Given the description of an element on the screen output the (x, y) to click on. 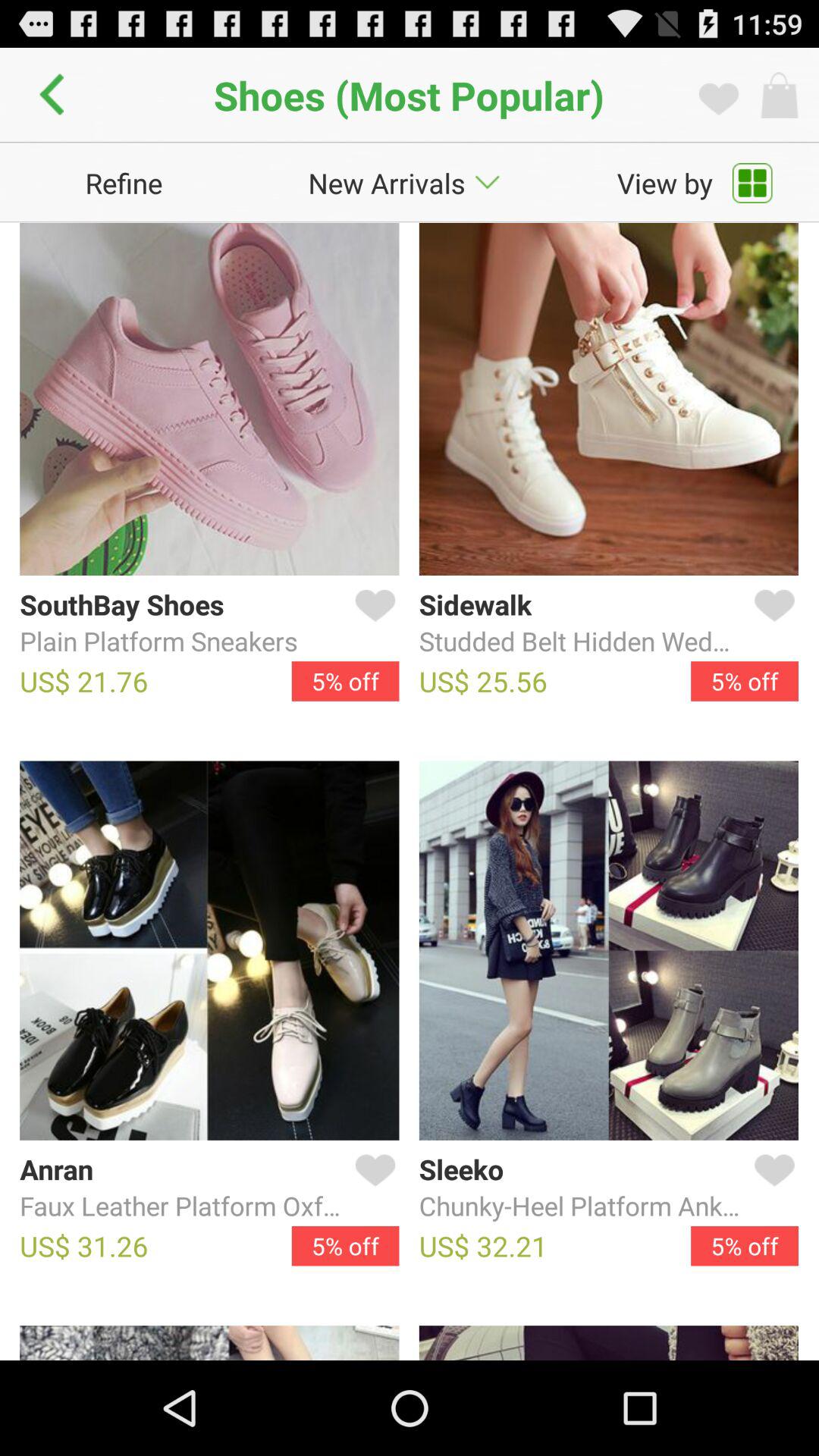
like the item (771, 1188)
